Given the description of an element on the screen output the (x, y) to click on. 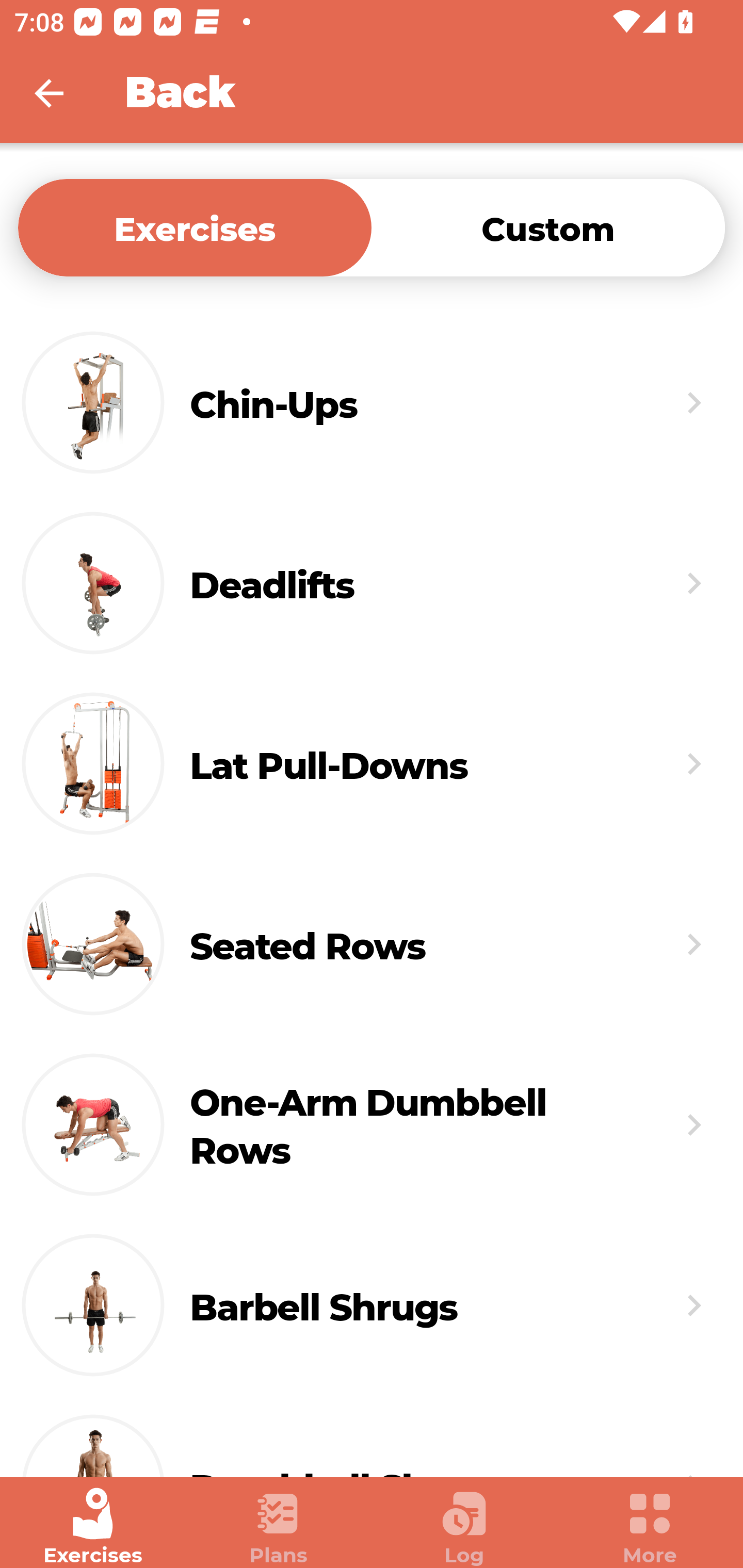
Back (62, 92)
Exercises (194, 226)
Custom (548, 226)
Exercises (92, 1527)
Plans (278, 1527)
Log (464, 1527)
More (650, 1527)
